Given the description of an element on the screen output the (x, y) to click on. 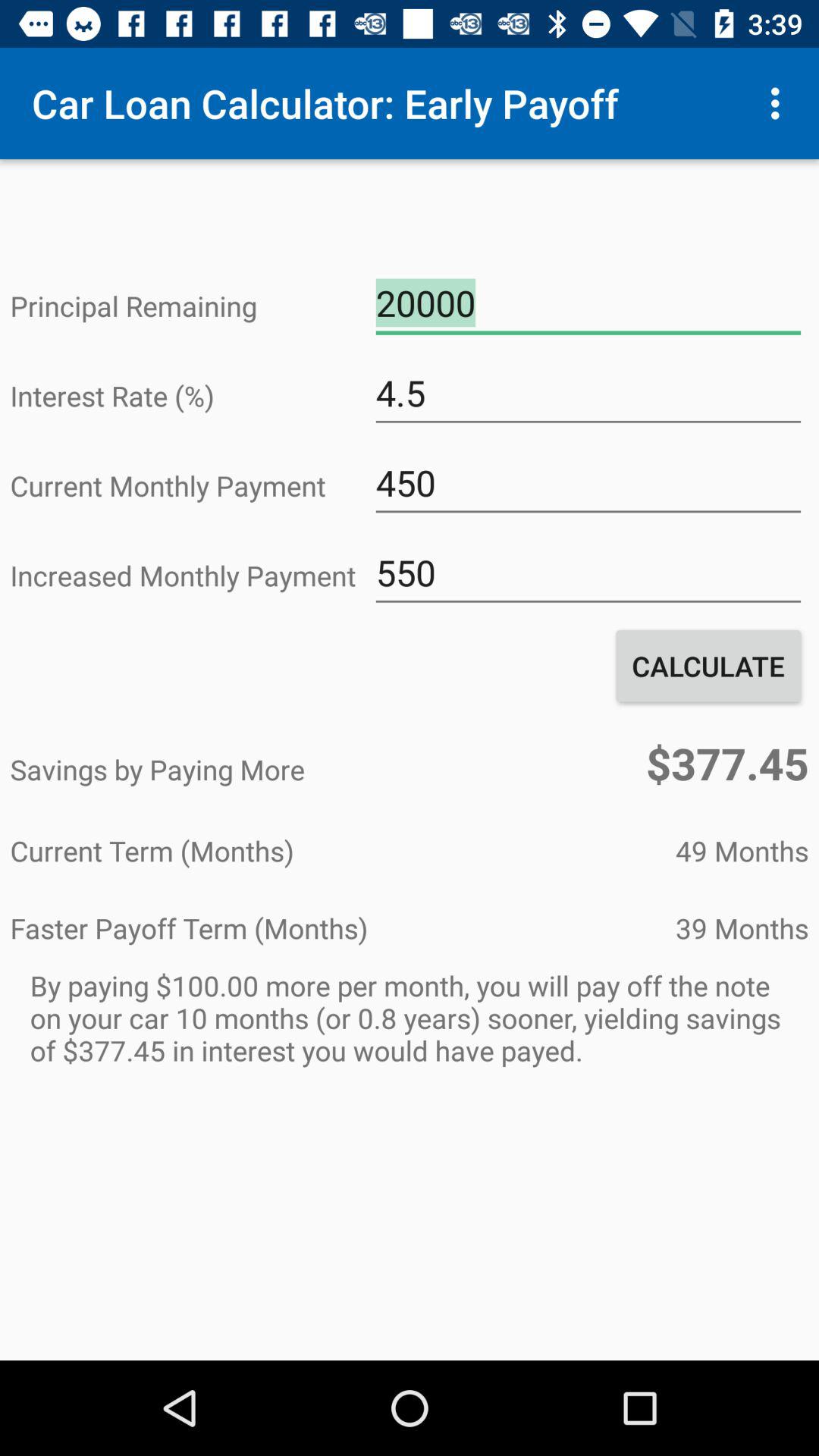
choose the item to the right of car loan calculator item (779, 103)
